Given the description of an element on the screen output the (x, y) to click on. 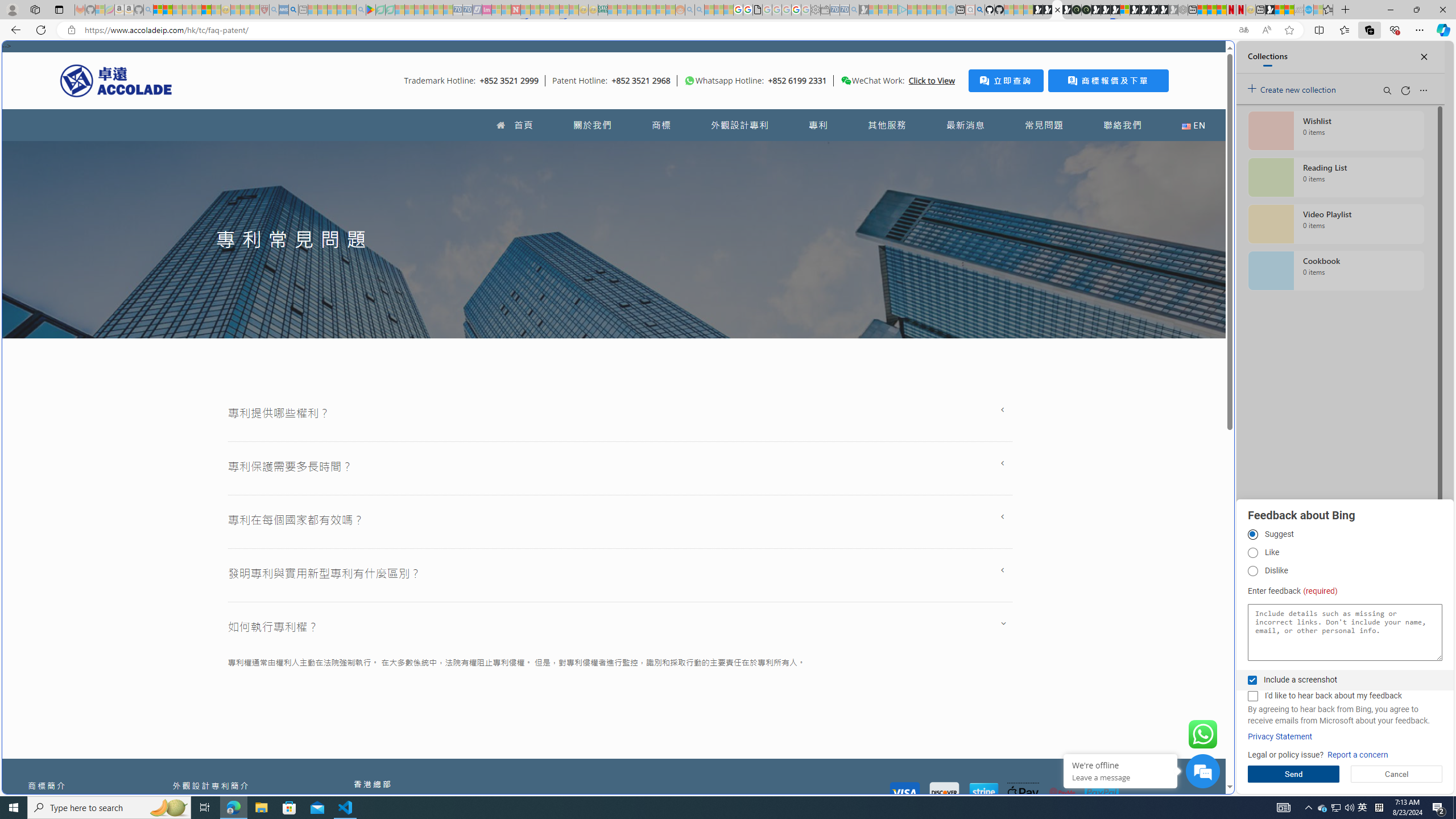
Future Focus Report 2024 (1085, 9)
